Given the description of an element on the screen output the (x, y) to click on. 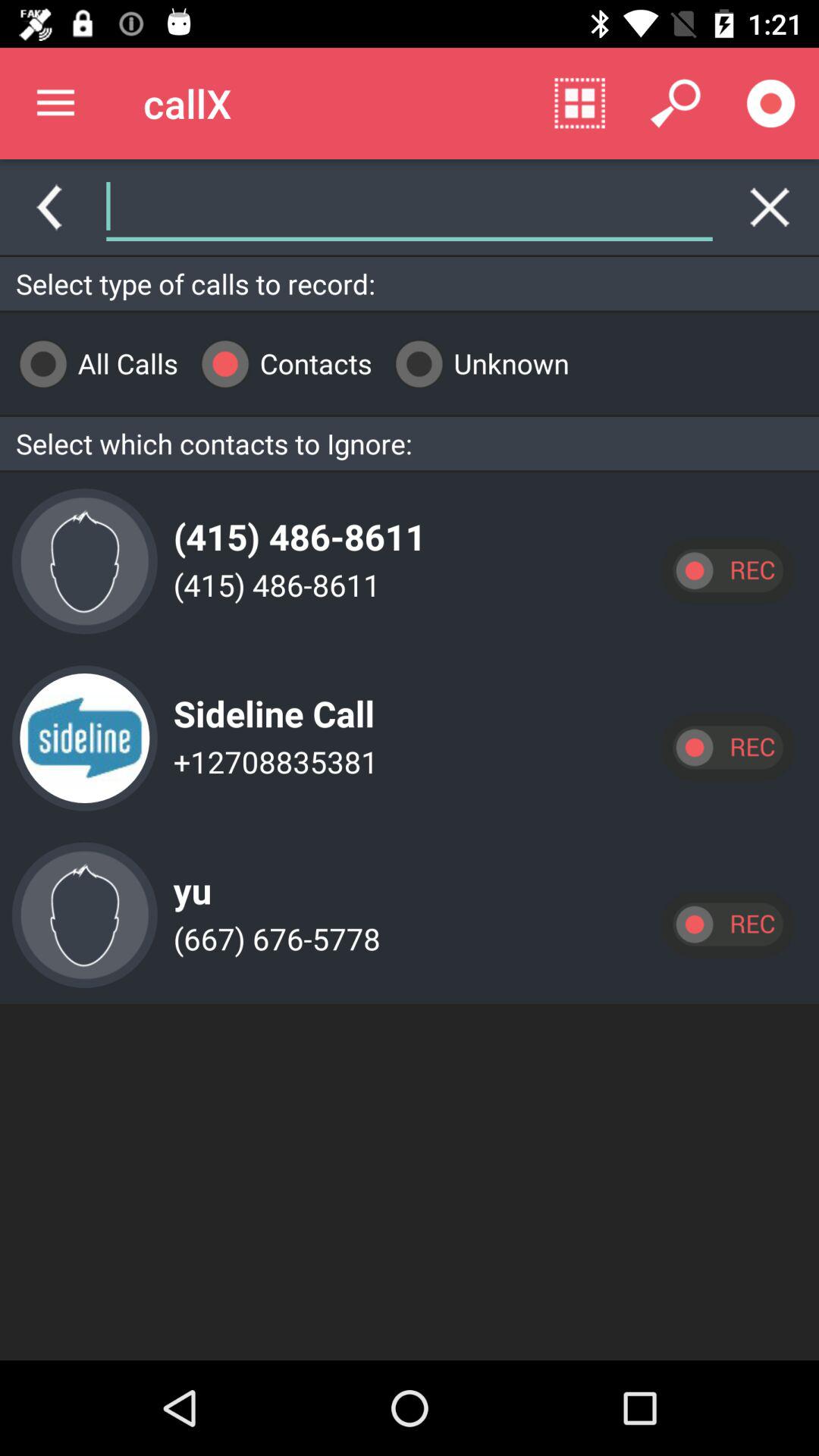
launch app above (667) 676-5778 icon (188, 878)
